Given the description of an element on the screen output the (x, y) to click on. 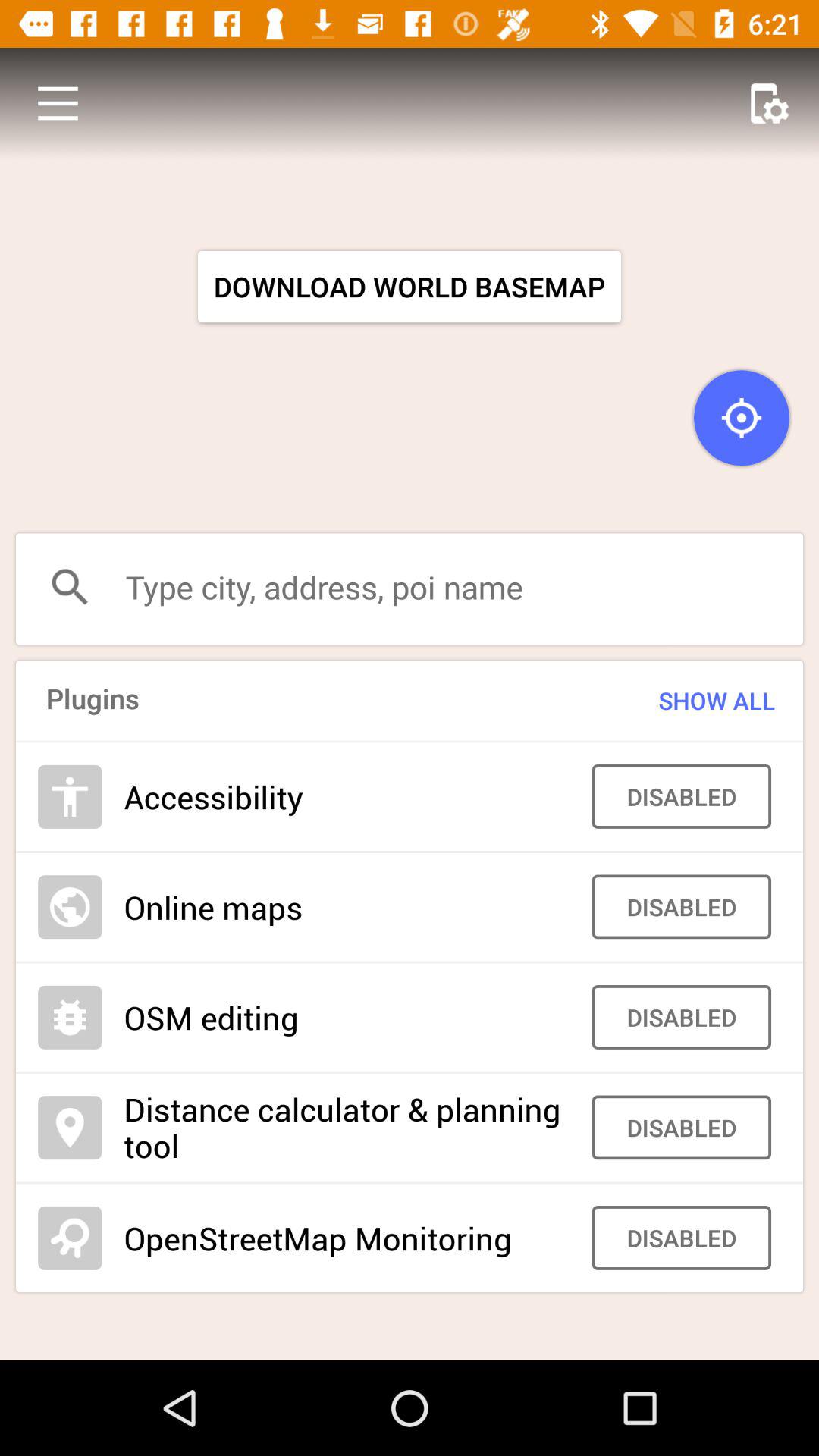
tap the item at the top left corner (57, 103)
